Given the description of an element on the screen output the (x, y) to click on. 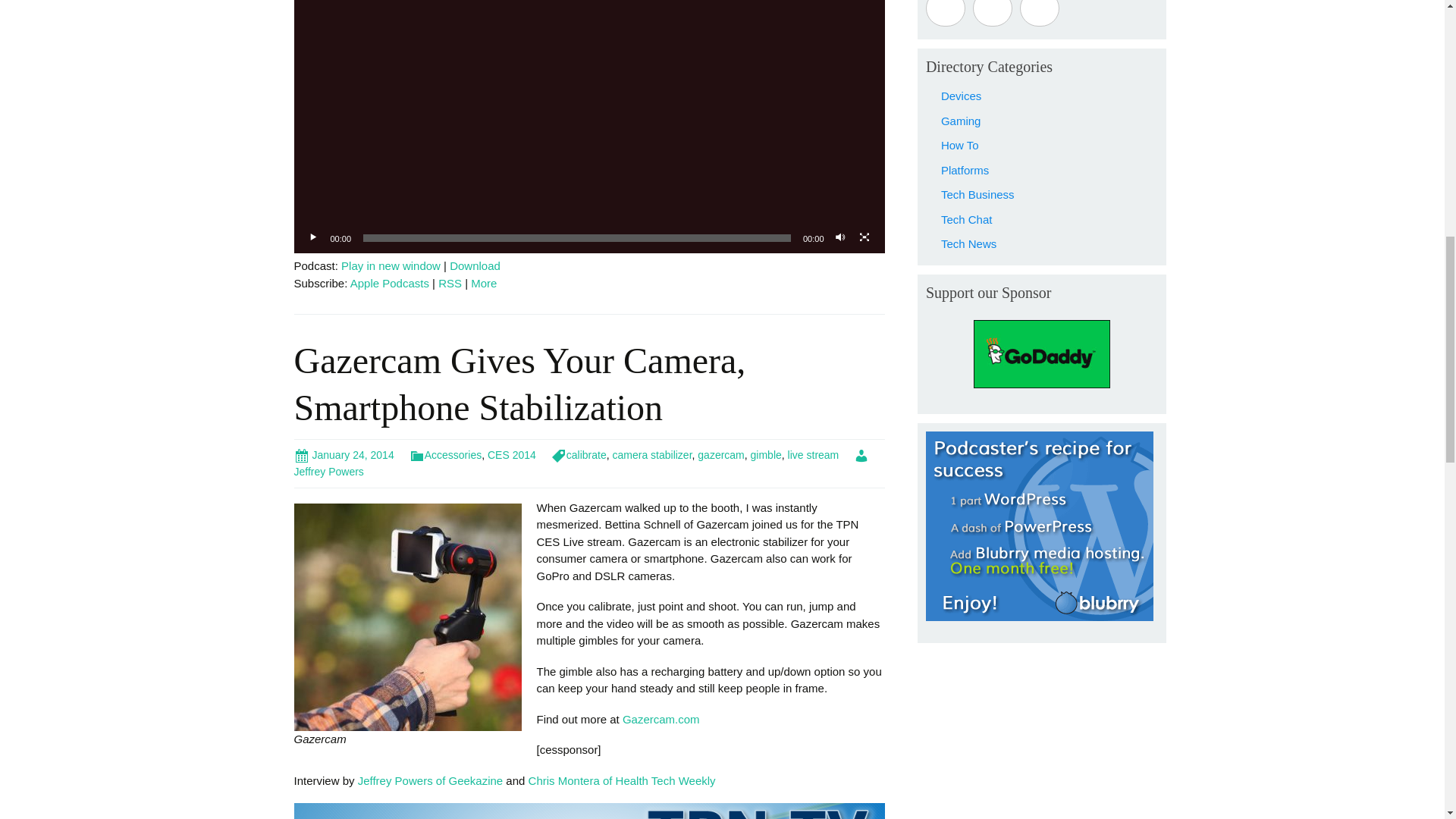
Apple Podcasts (389, 282)
Download (474, 265)
RSS (449, 282)
Download (474, 265)
Accessories (445, 454)
View all posts by Jeffrey Powers (581, 462)
Fullscreen (864, 237)
Gazercam Gives Your Camera, Smartphone Stabilization (519, 383)
More (483, 282)
Play in new window (390, 265)
